Given the description of an element on the screen output the (x, y) to click on. 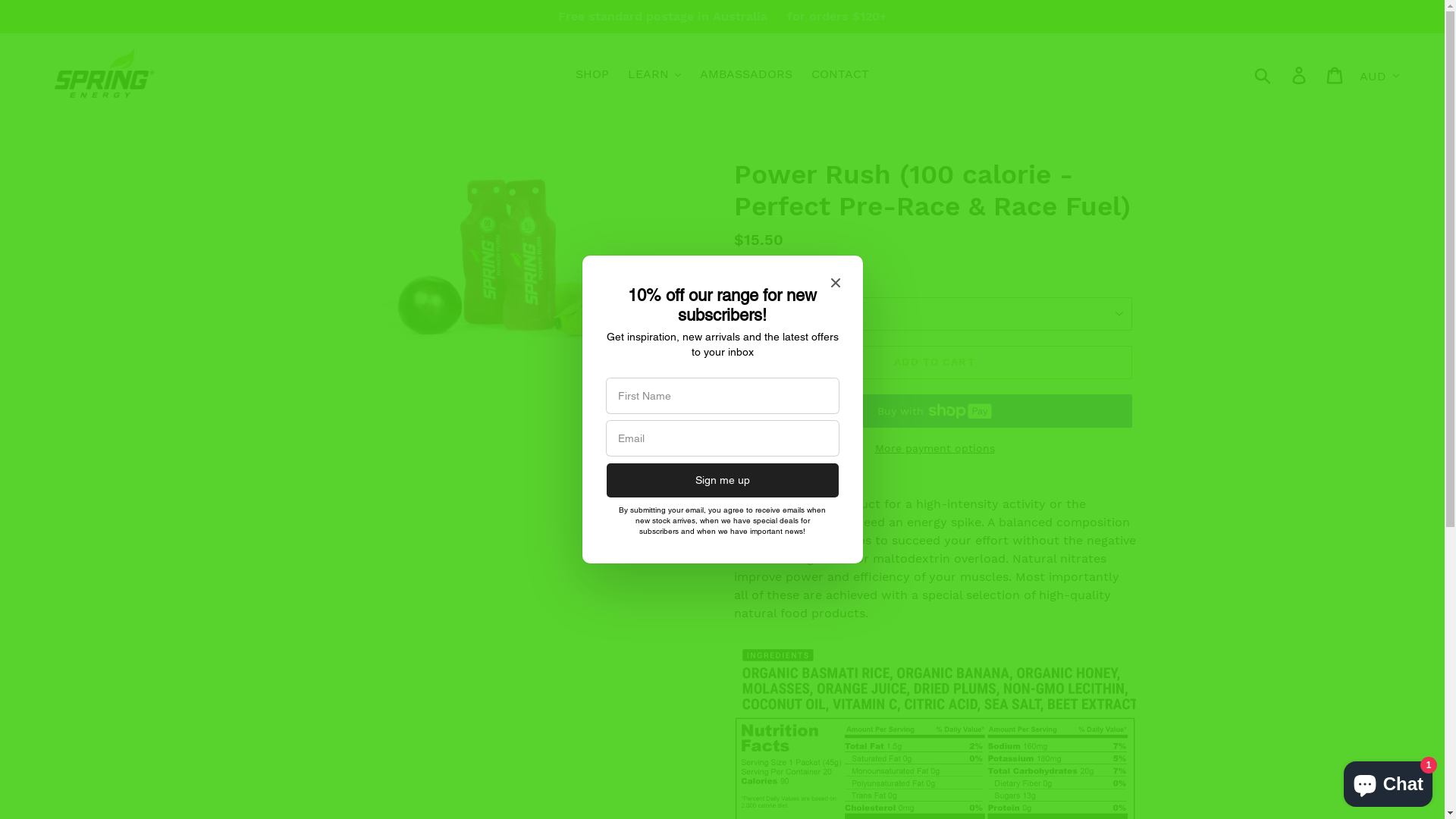
Submit Element type: text (1263, 74)
Cart Element type: text (1335, 74)
AMBASSADORS Element type: text (746, 73)
More payment options Element type: text (934, 448)
Shopify online store chat Element type: hover (1388, 780)
Log in Element type: text (1299, 74)
ADD TO CART Element type: text (934, 362)
CONTACT Element type: text (839, 73)
SHOP Element type: text (591, 73)
